Given the description of an element on the screen output the (x, y) to click on. 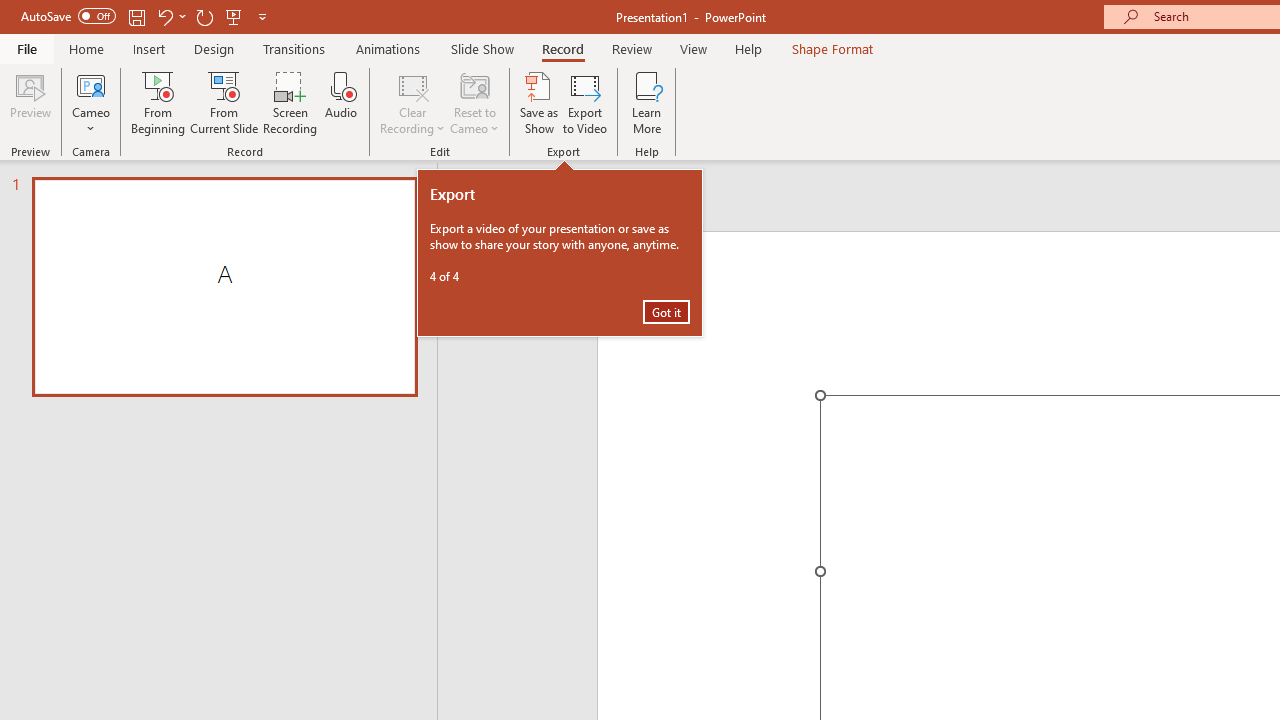
Got it (665, 312)
